Given the description of an element on the screen output the (x, y) to click on. 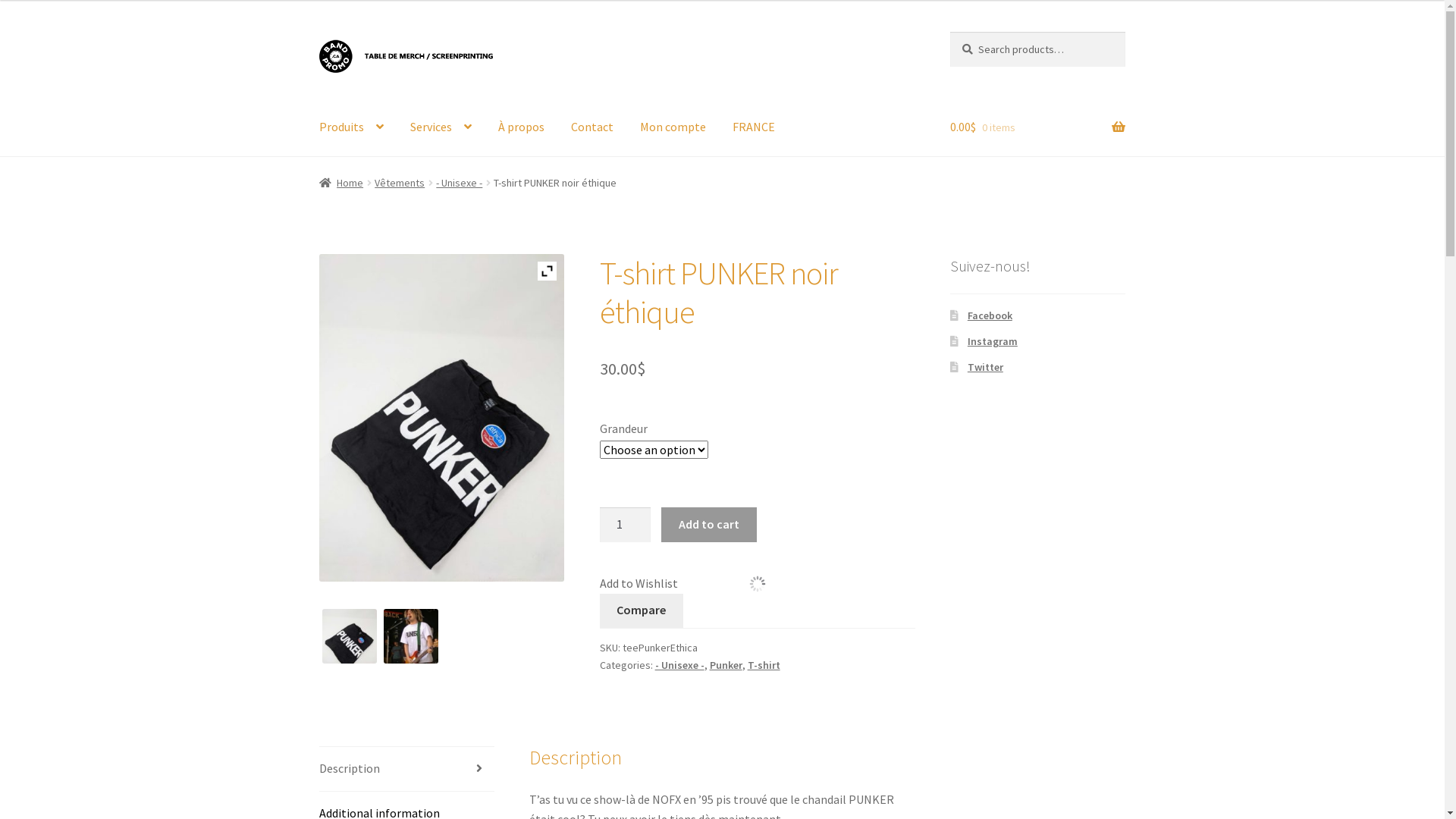
Compare Element type: text (641, 610)
Add to cart Element type: text (708, 524)
Add to Wishlist Element type: text (638, 582)
Qty Element type: hover (625, 524)
Produits Element type: text (351, 126)
- Unisexe - Element type: text (679, 664)
PXL_20210629_173304683 Element type: hover (441, 417)
Twitter Element type: text (985, 366)
Services Element type: text (440, 126)
Instagram Element type: text (992, 341)
118547445_1250512198625018_612709972069245339_n Element type: hover (411, 636)
0.00$ 0 items Element type: text (1037, 126)
PXL_20210629_173304683 Element type: hover (349, 636)
- Unisexe - Element type: text (459, 182)
Search Element type: text (949, 31)
FRANCE Element type: text (753, 126)
Skip to navigation Element type: text (318, 31)
Punker Element type: text (725, 664)
Facebook Element type: text (989, 315)
Contact Element type: text (591, 126)
T-shirt Element type: text (763, 664)
Description Element type: text (406, 768)
Mon compte Element type: text (672, 126)
Home Element type: text (341, 182)
